Given the description of an element on the screen output the (x, y) to click on. 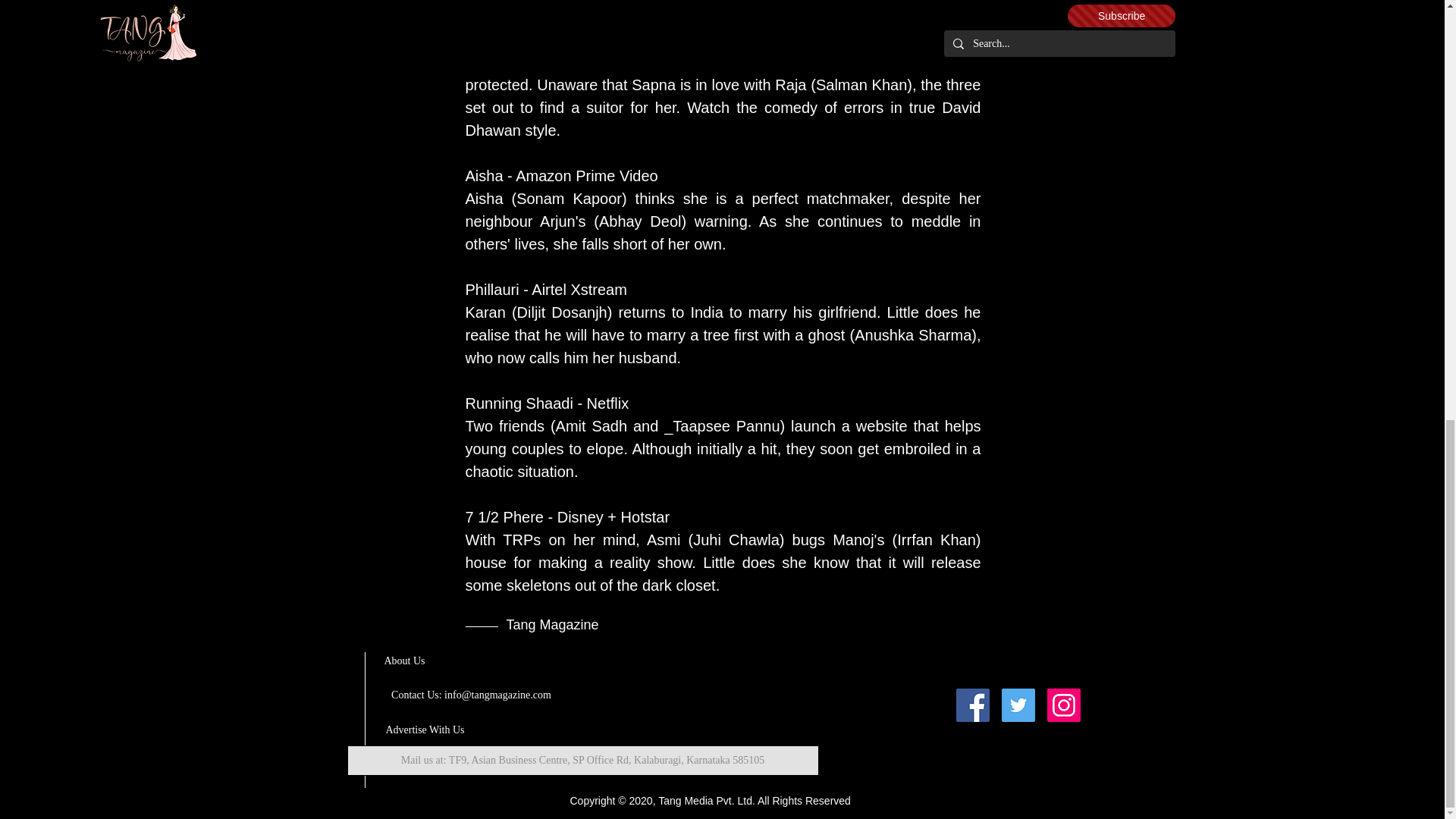
Advertise With Us (425, 729)
About Us (404, 661)
